Given the description of an element on the screen output the (x, y) to click on. 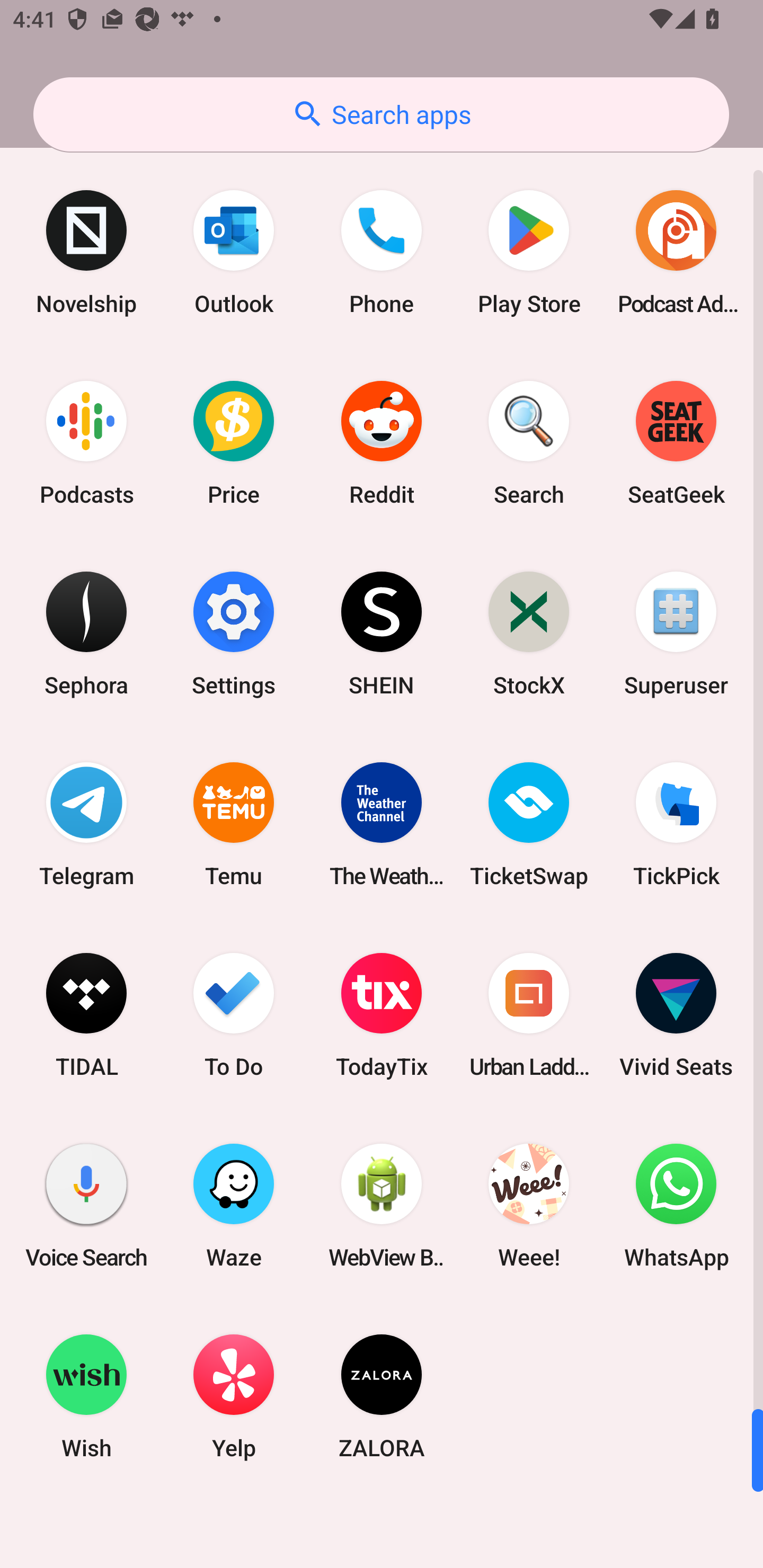
Yelp (233, 1396)
